Given the description of an element on the screen output the (x, y) to click on. 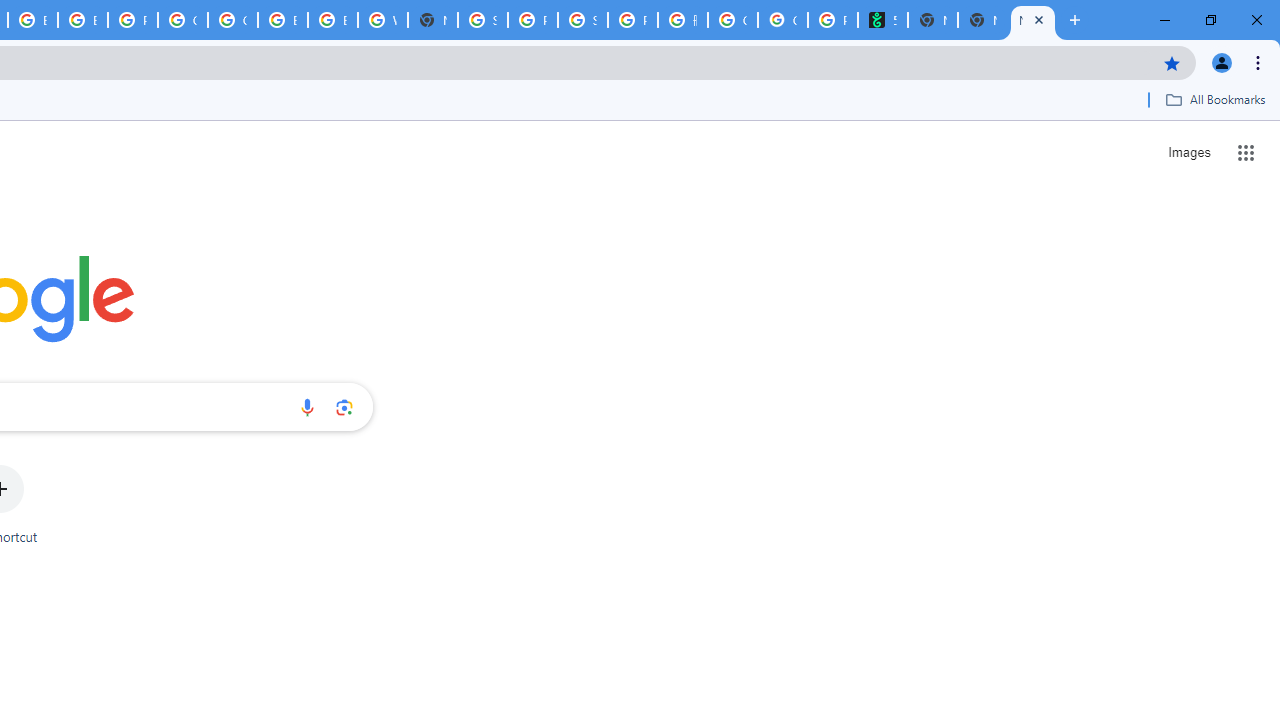
Google Cloud Platform (182, 20)
New Tab (982, 20)
